Given the description of an element on the screen output the (x, y) to click on. 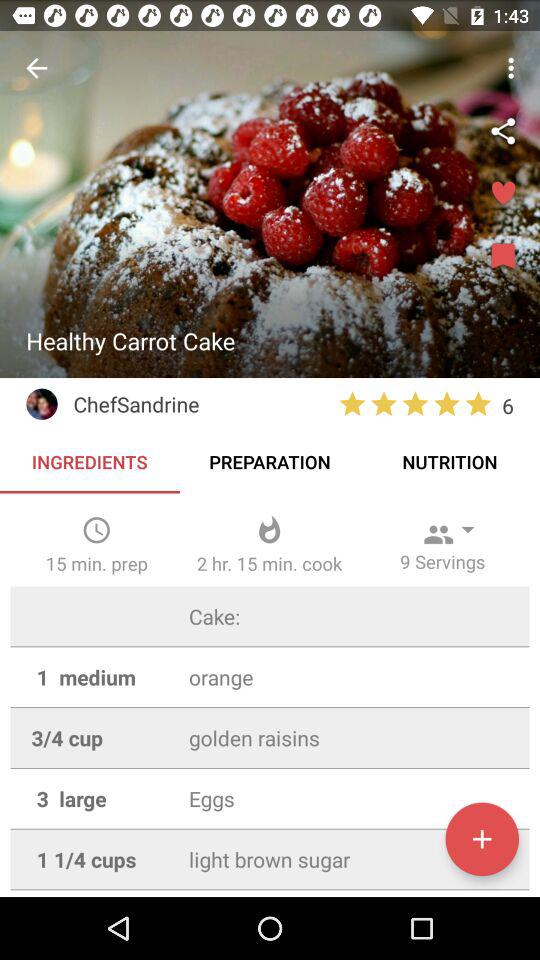
tag the image of the fb (503, 131)
